Given the description of an element on the screen output the (x, y) to click on. 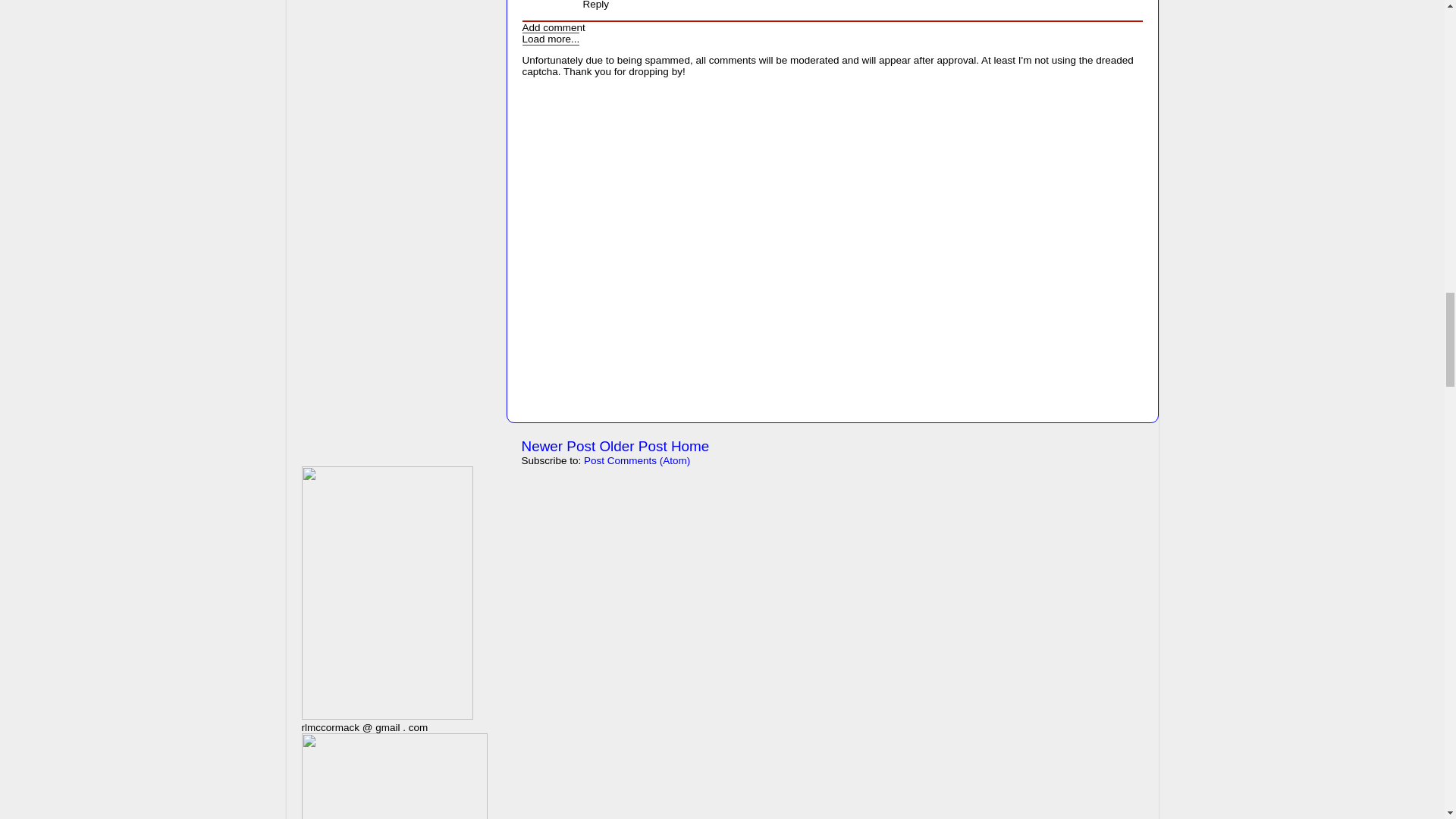
Add comment (553, 27)
Newer Post (558, 446)
Load more... (550, 38)
Reply (595, 4)
Older Post (632, 446)
